Given the description of an element on the screen output the (x, y) to click on. 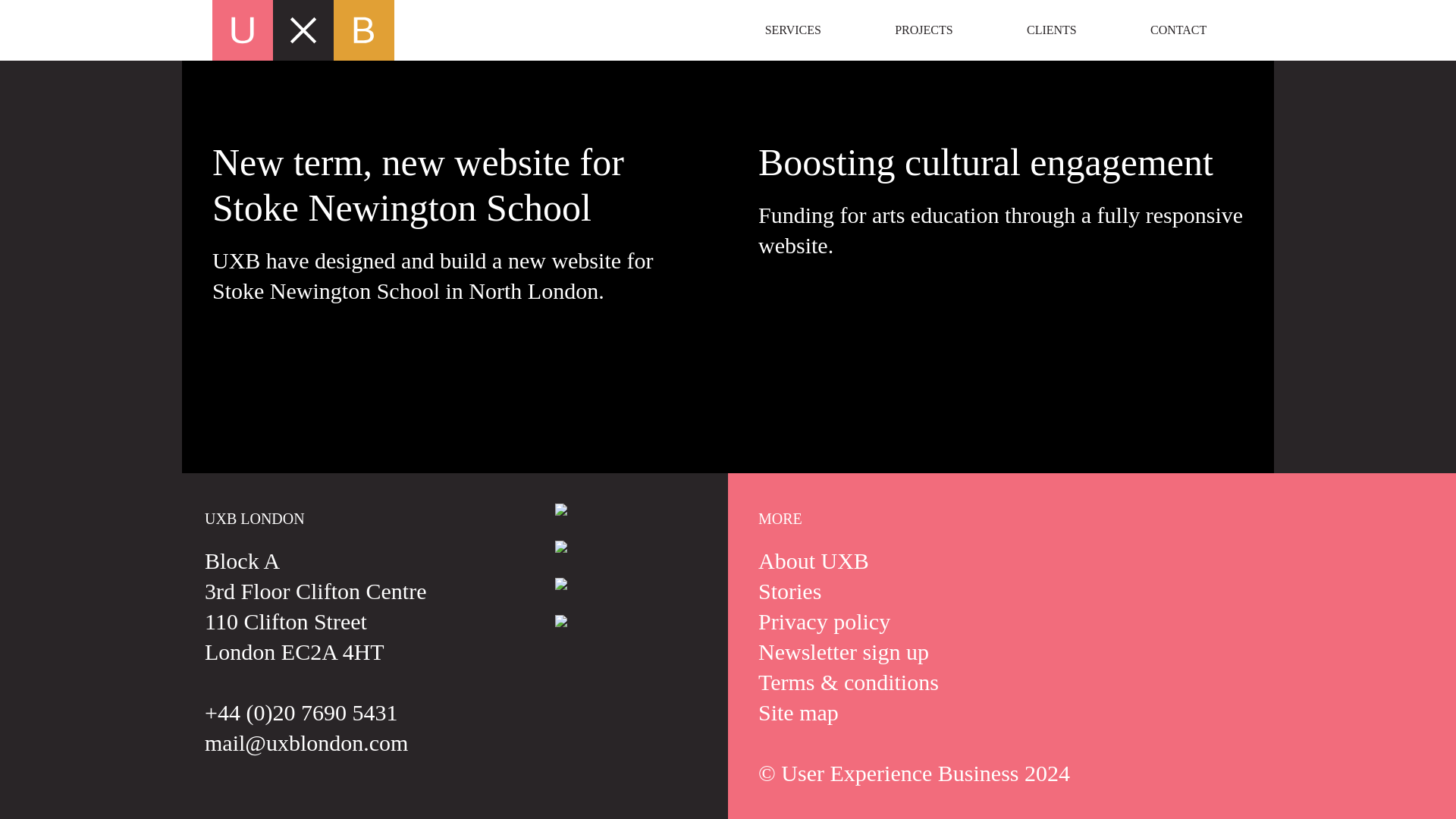
Stories (789, 590)
Newsletter sign up (843, 651)
Privacy policy (823, 621)
Site map (798, 712)
About UXB (813, 560)
